Given the description of an element on the screen output the (x, y) to click on. 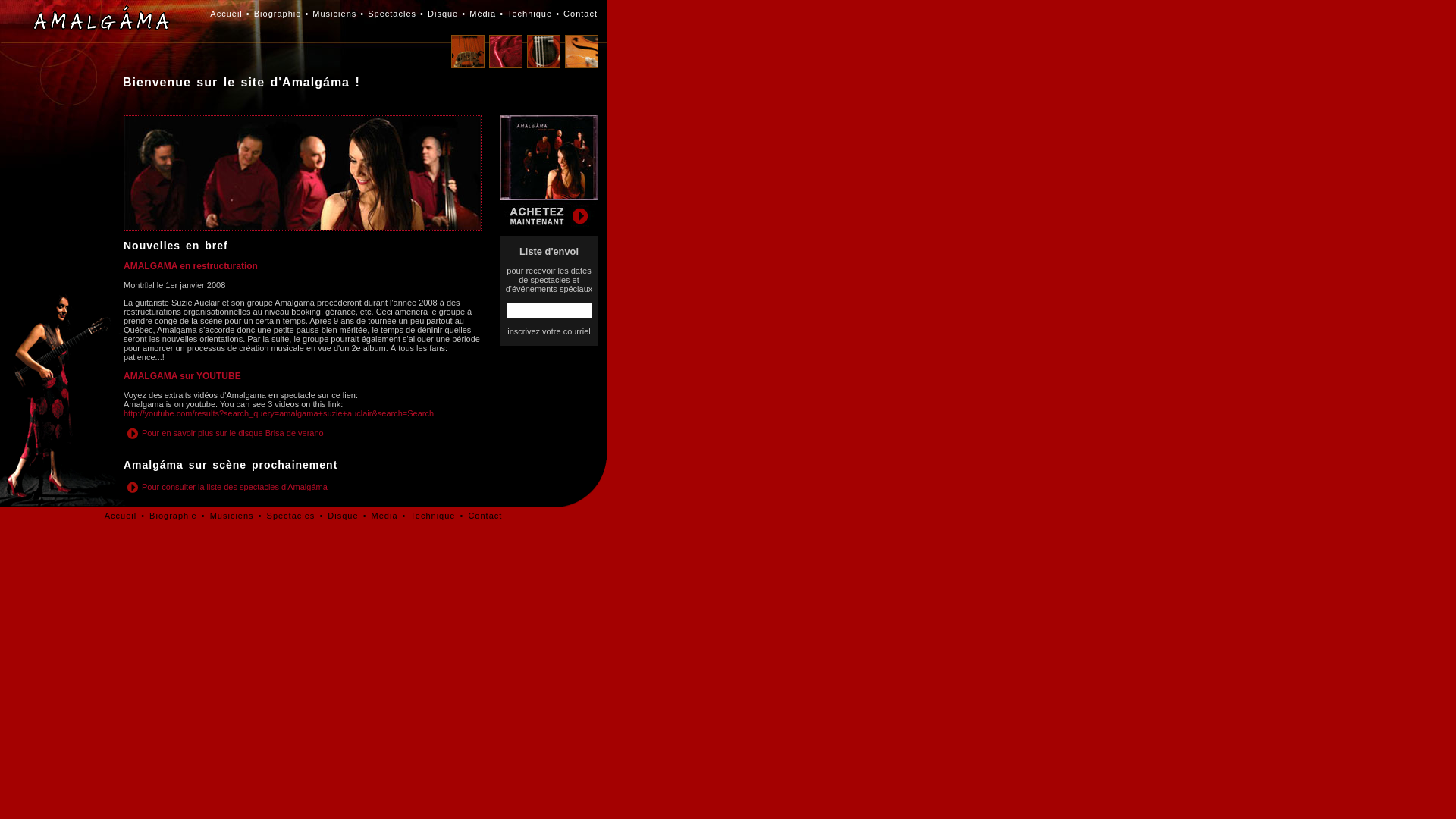
Technique Element type: text (529, 13)
Contact Element type: text (484, 515)
Musiciens Element type: text (232, 515)
Musiciens Element type: text (334, 13)
Accueil Element type: text (120, 515)
Spectacles Element type: text (290, 515)
Biographie Element type: text (173, 515)
Disque Element type: text (342, 515)
Pour en savoir plus sur le disque Brisa de verano Element type: text (223, 439)
Spectacles Element type: text (391, 13)
Accueil Element type: text (225, 13)
Technique Element type: text (432, 515)
Contact Element type: text (580, 13)
Biographie Element type: text (277, 13)
Disque Element type: text (442, 13)
